Given the description of an element on the screen output the (x, y) to click on. 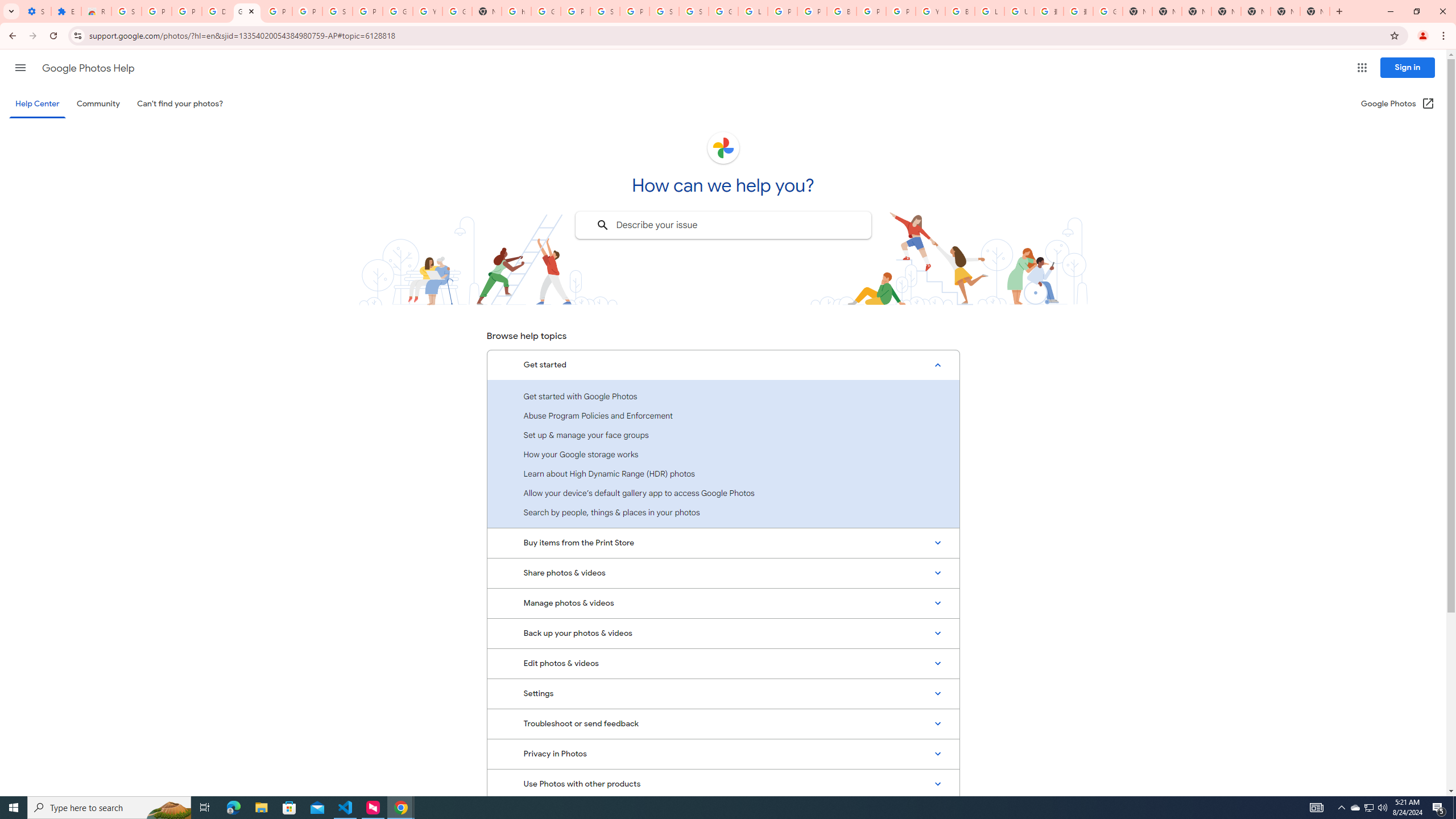
Can't find your photos? (180, 103)
Google Account (397, 11)
New Tab (1226, 11)
Settings - On startup (36, 11)
Share photos & videos (722, 573)
Reviews: Helix Fruit Jump Arcade Game (95, 11)
